Given the description of an element on the screen output the (x, y) to click on. 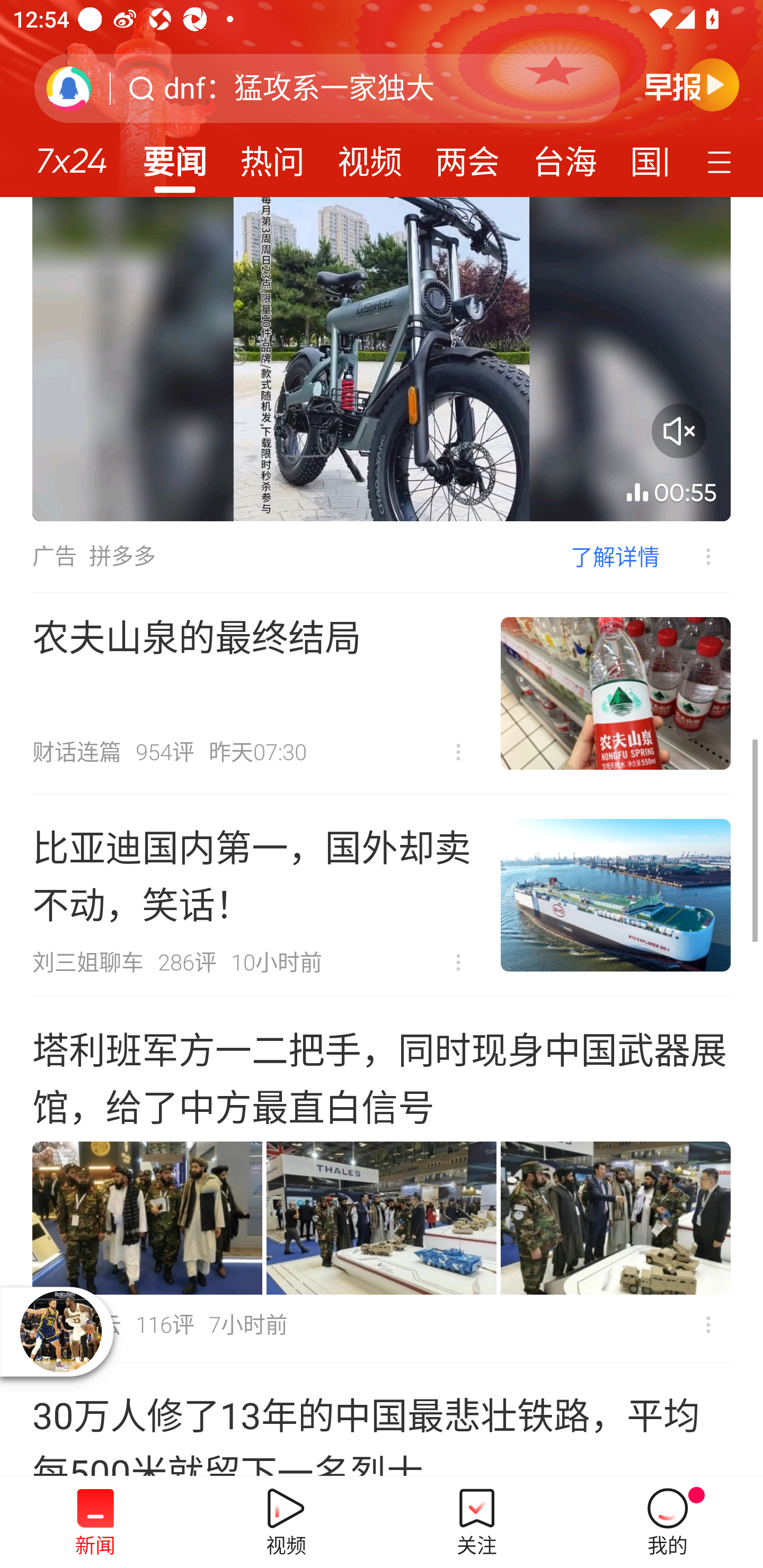
早晚报 (691, 84)
刷新 (68, 88)
dnf：猛攻系一家独大 (299, 88)
7x24 (70, 154)
要闻 (174, 155)
热问 (272, 155)
视频 (369, 155)
两会 (466, 155)
台海 (564, 155)
 定制频道 (721, 160)
00:55 音量开关 (381, 358)
音量开关 (678, 429)
 不感兴趣 (694, 556)
了解详情 (614, 556)
广告 (54, 556)
拼多多 (122, 556)
农夫山泉的最终结局 财话连篇 954评 昨天07:30  不感兴趣 (381, 692)
 不感兴趣 (458, 752)
比亚迪国内第一，国外却卖不动，笑话！ 刘三姐聊车 286评 10小时前  不感兴趣 (381, 894)
 不感兴趣 (458, 962)
播放器 (60, 1331)
 不感兴趣 (707, 1324)
